Given the description of an element on the screen output the (x, y) to click on. 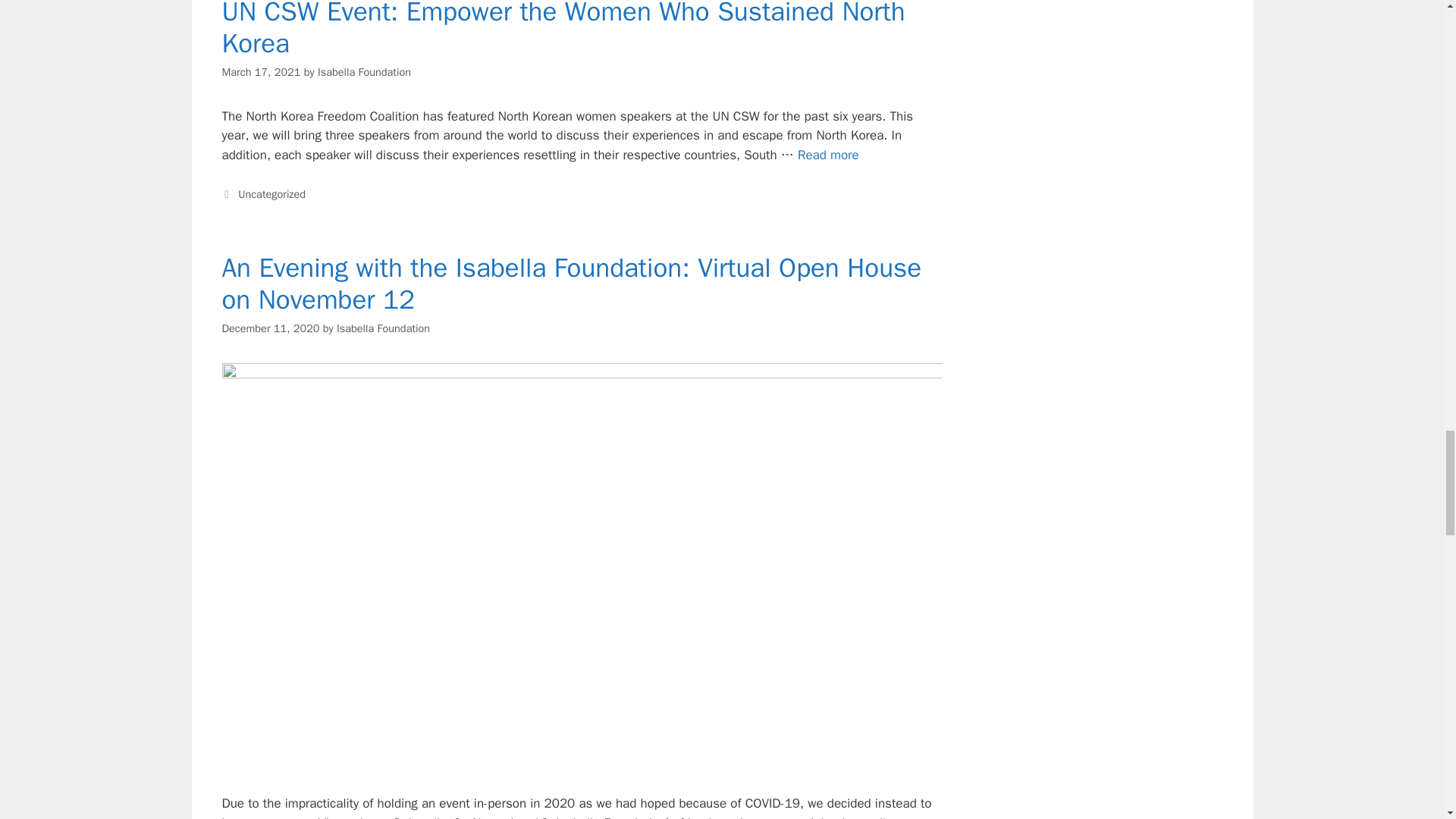
Isabella Foundation (382, 327)
Isabella Foundation (363, 71)
View all posts by Isabella Foundation (363, 71)
Uncategorized (271, 193)
View all posts by Isabella Foundation (382, 327)
UN CSW Event: Empower the Women Who Sustained North Korea (828, 154)
UN CSW Event: Empower the Women Who Sustained North Korea (562, 29)
Read more (828, 154)
